Given the description of an element on the screen output the (x, y) to click on. 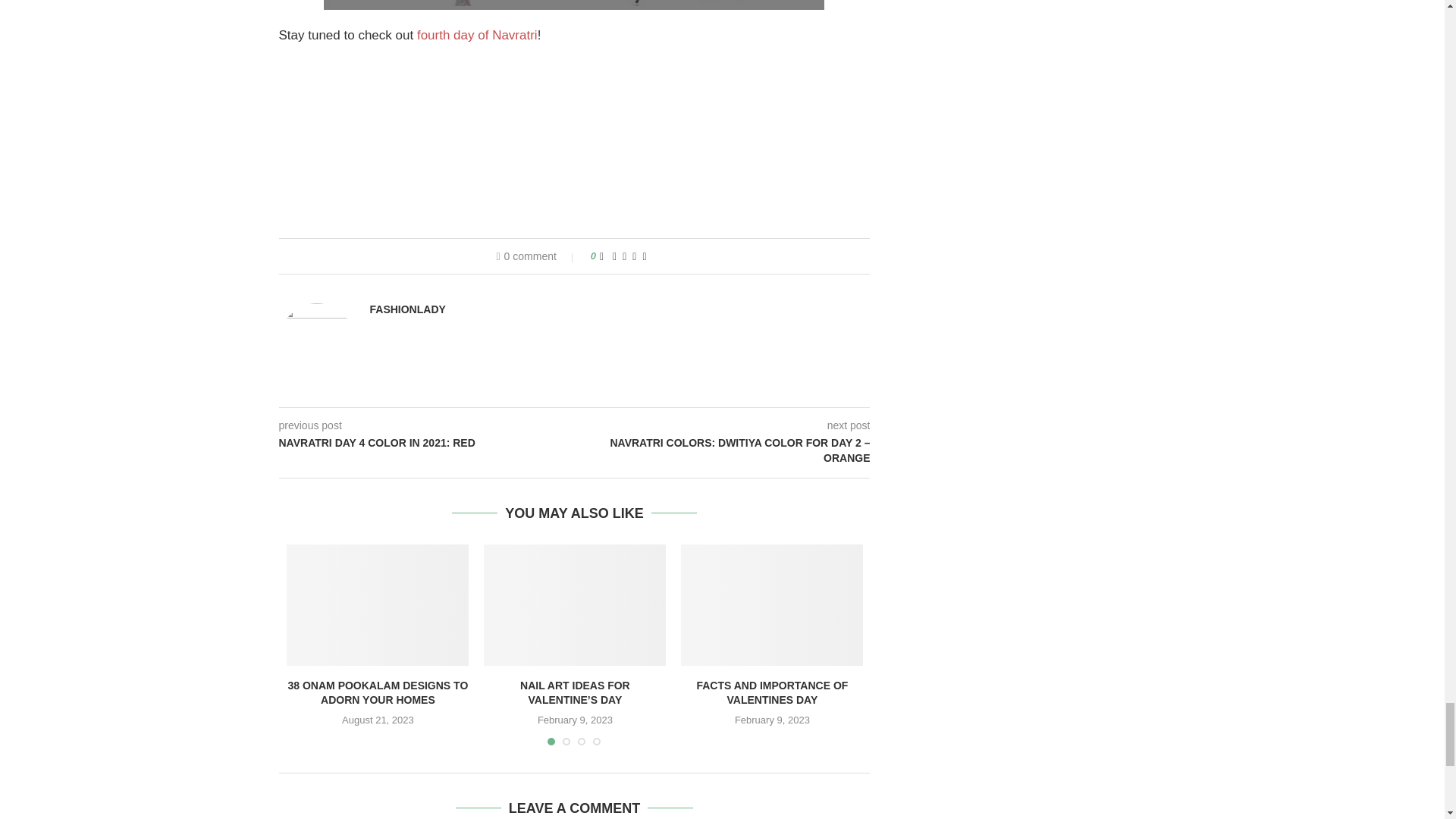
Author Fashionlady (407, 309)
fourth day of Navratri (476, 34)
